Given the description of an element on the screen output the (x, y) to click on. 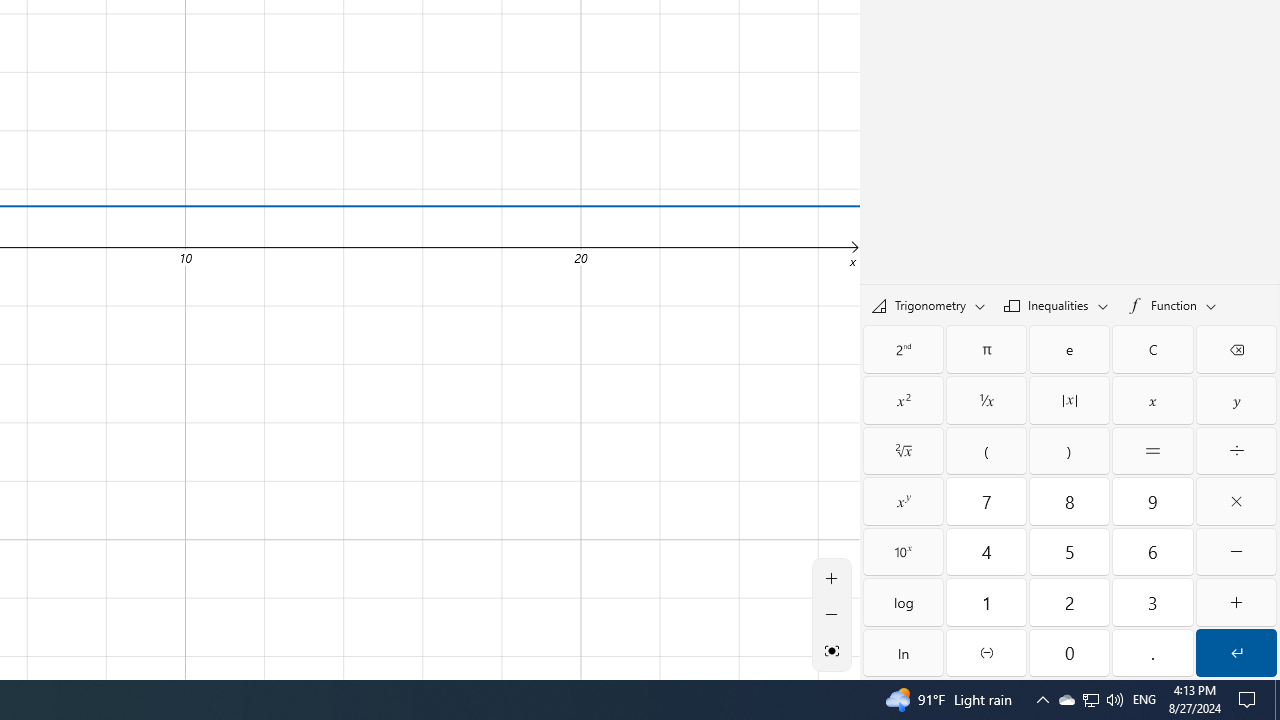
Four (985, 551)
Pi (985, 348)
Clear (1153, 348)
Natural log (903, 652)
Graph view (831, 650)
Zoom out (831, 614)
Backspace (1236, 348)
Ten to the exponent (903, 551)
Divide by (1236, 450)
Seven (985, 501)
